Given the description of an element on the screen output the (x, y) to click on. 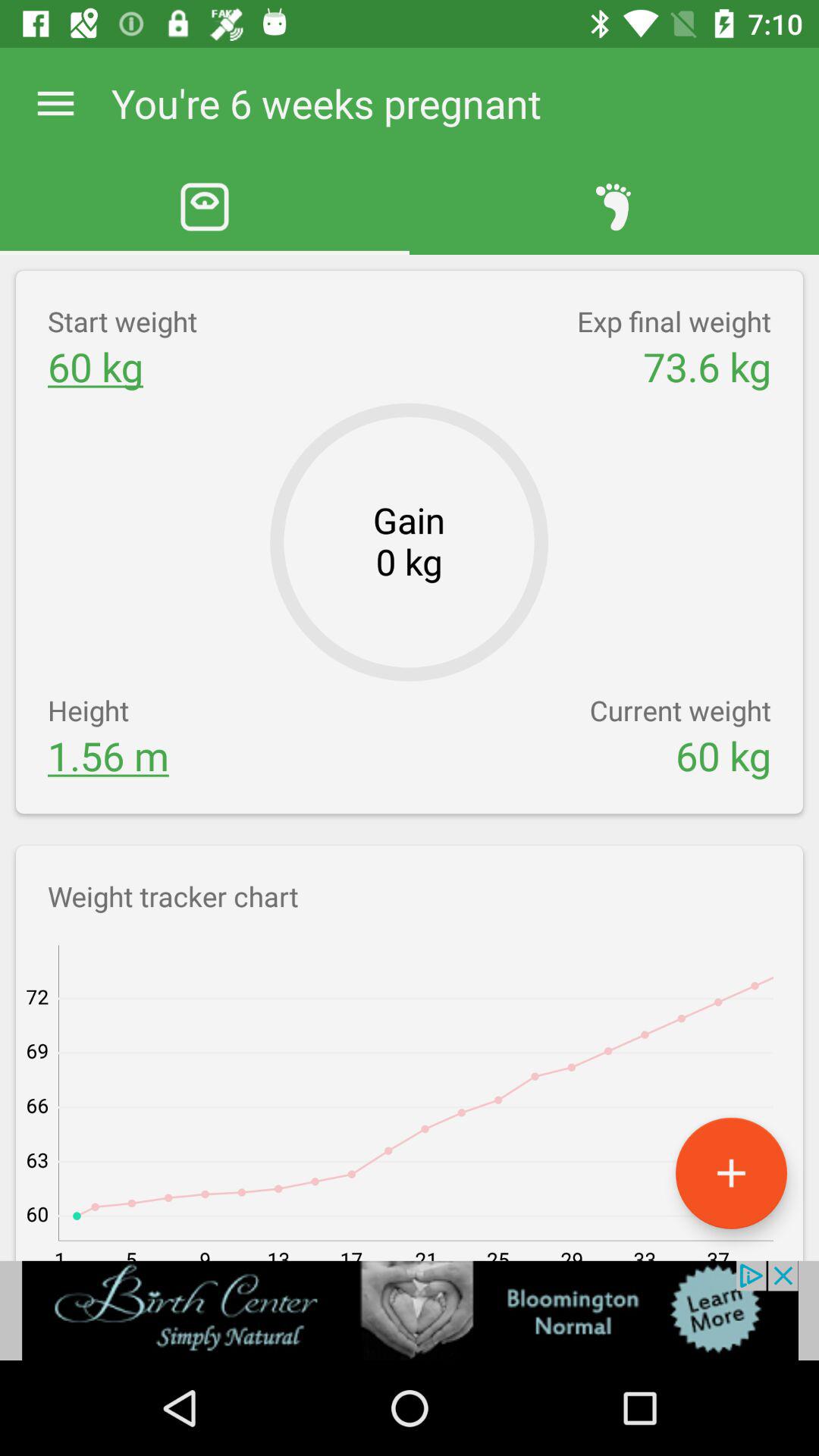
open advertisement (409, 1310)
